Given the description of an element on the screen output the (x, y) to click on. 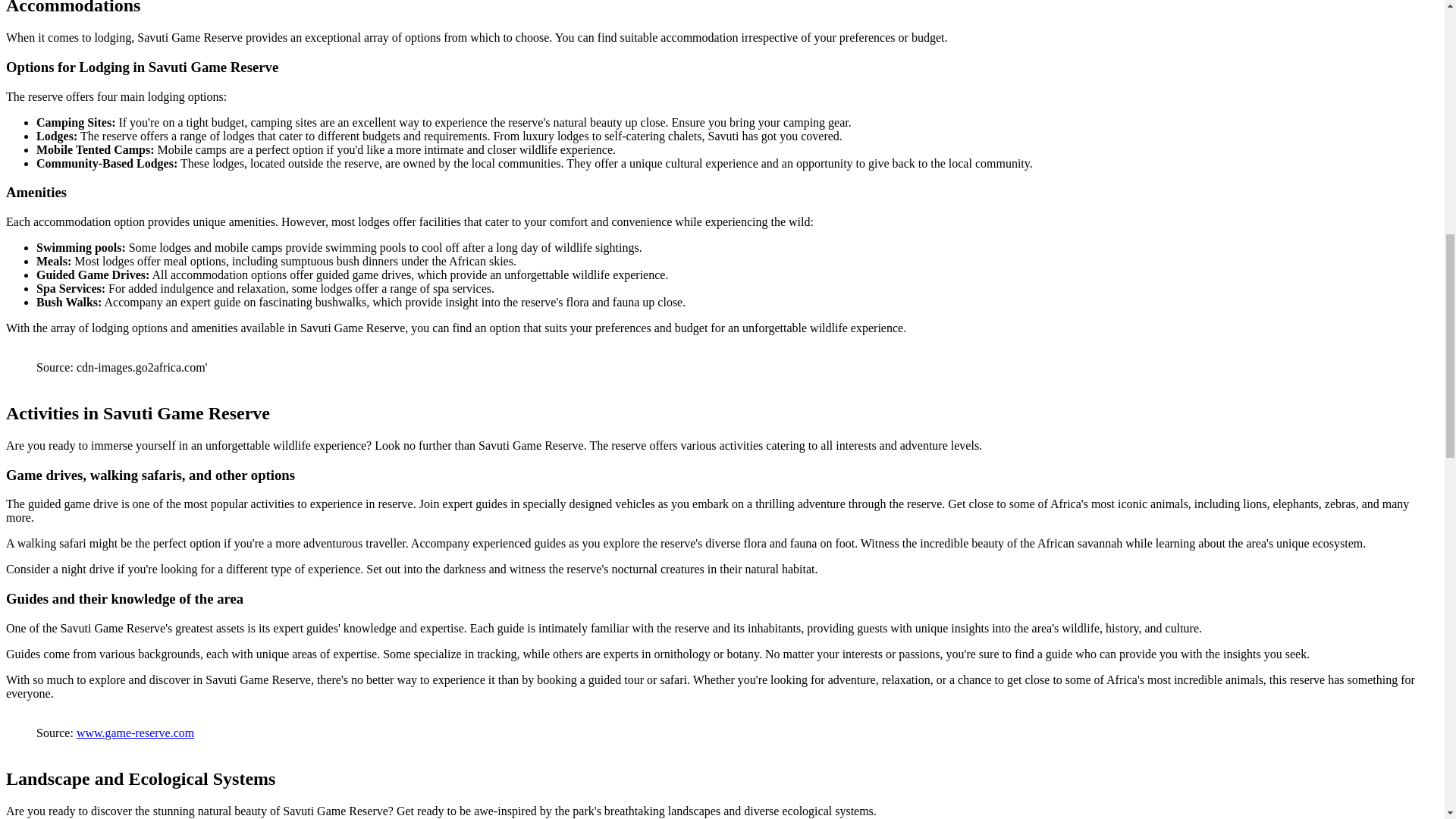
www.game-reserve.com (135, 732)
